Given the description of an element on the screen output the (x, y) to click on. 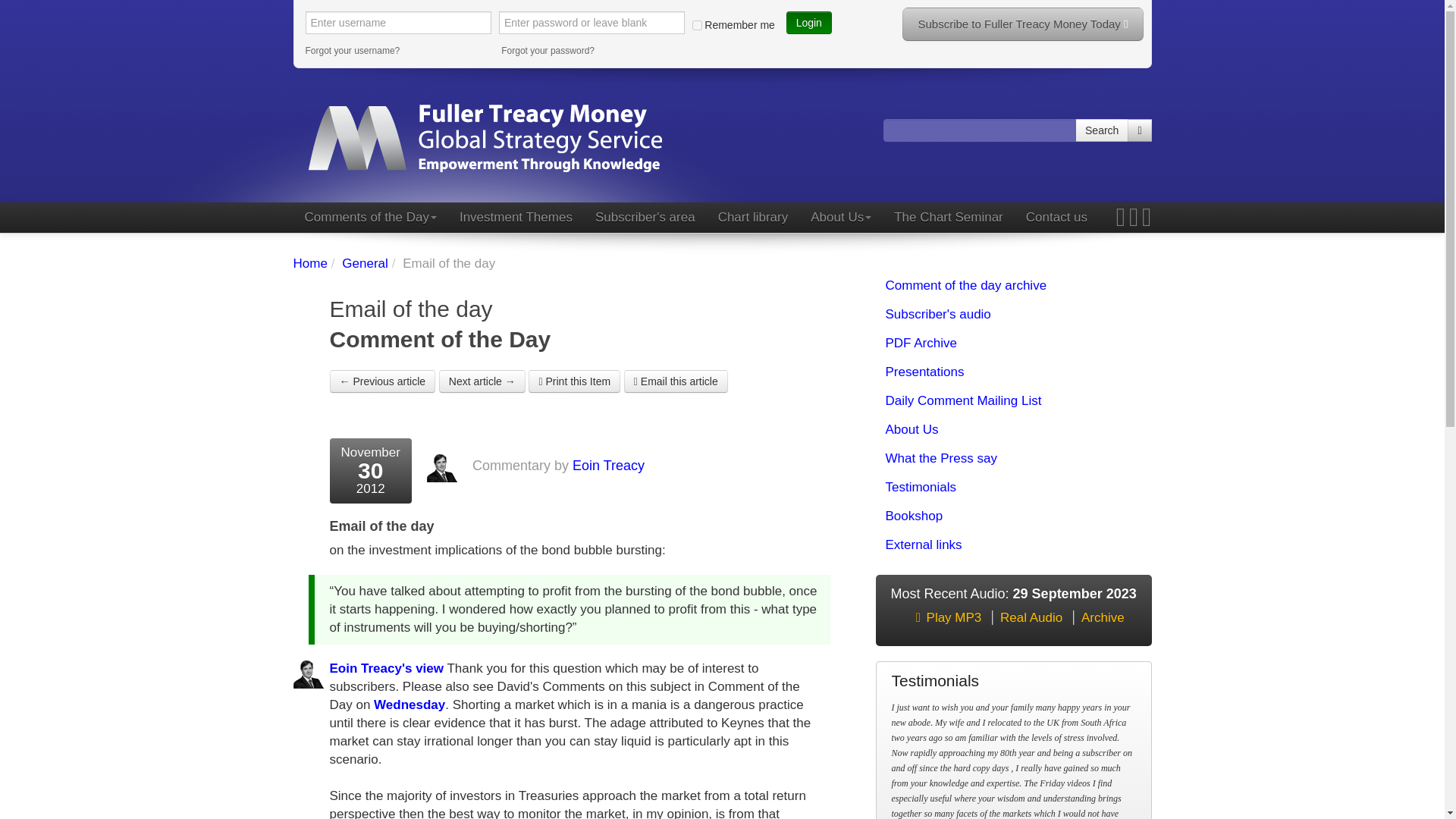
Chart library (752, 217)
The Chart Seminar (948, 217)
Subscriber's area (644, 217)
Print this Item (574, 381)
General (364, 263)
General (364, 263)
Investment Themes (515, 217)
1 (697, 24)
About Us (840, 217)
Eoin Treacy's view (386, 667)
